Given the description of an element on the screen output the (x, y) to click on. 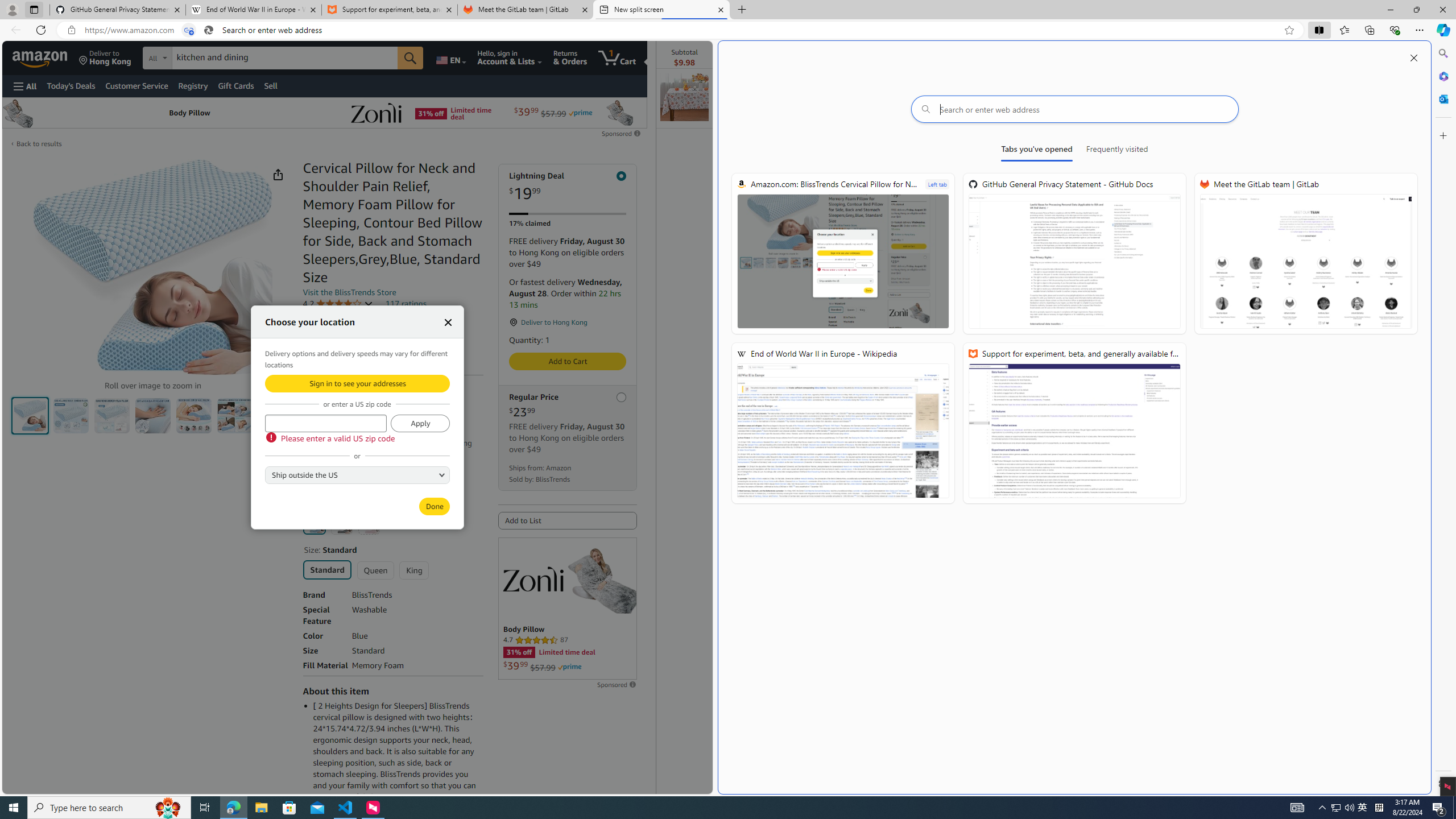
Back to results (39, 144)
Pink (369, 522)
King (414, 570)
Grey (341, 522)
Learn more about Amazon pricing and savings (360, 427)
Sustainability features 1 sustainability feature  (356, 350)
Search or enter web address (1074, 108)
Standard (327, 569)
Pink (369, 522)
4.2 4.2 out of 5 stars (337, 303)
